Given the description of an element on the screen output the (x, y) to click on. 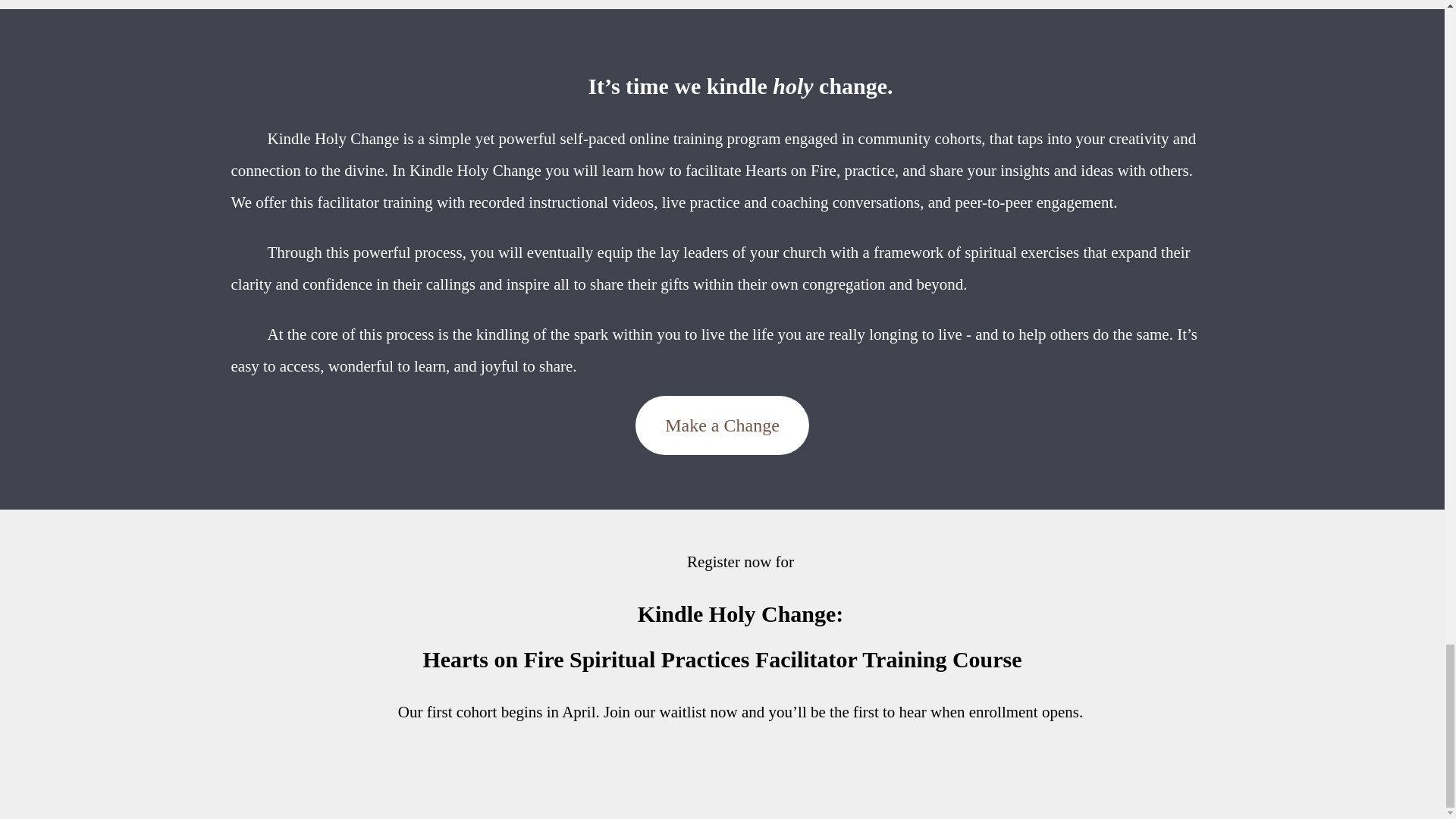
Make a Change (721, 425)
